Given the description of an element on the screen output the (x, y) to click on. 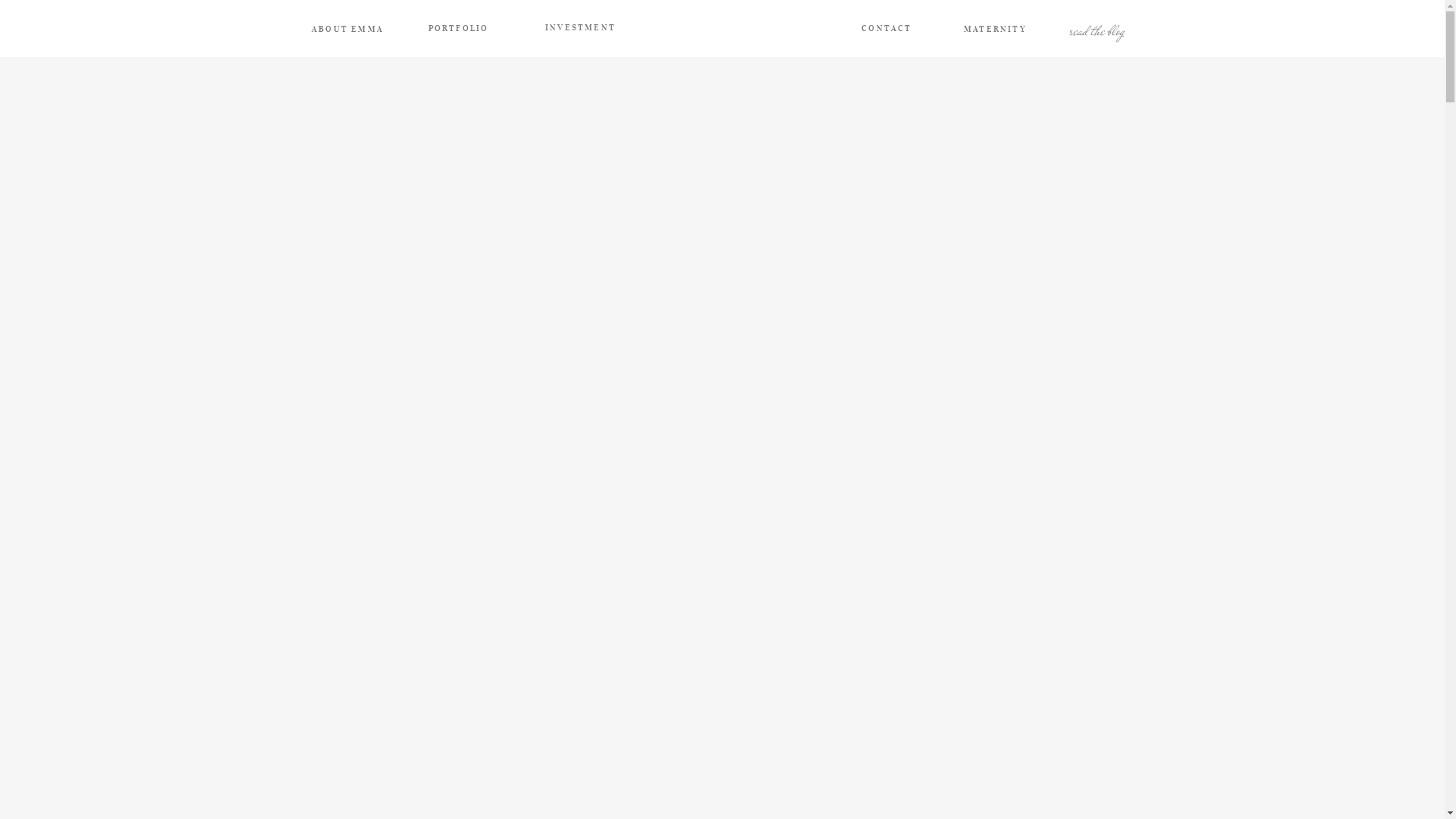
PORTFOLIO Element type: text (458, 29)
INVESTMENT Element type: text (579, 28)
MATERNITY Element type: text (995, 29)
CONTACT Element type: text (886, 29)
read the blog Element type: text (1097, 28)
ABOUT EMMA Element type: text (347, 29)
